Given the description of an element on the screen output the (x, y) to click on. 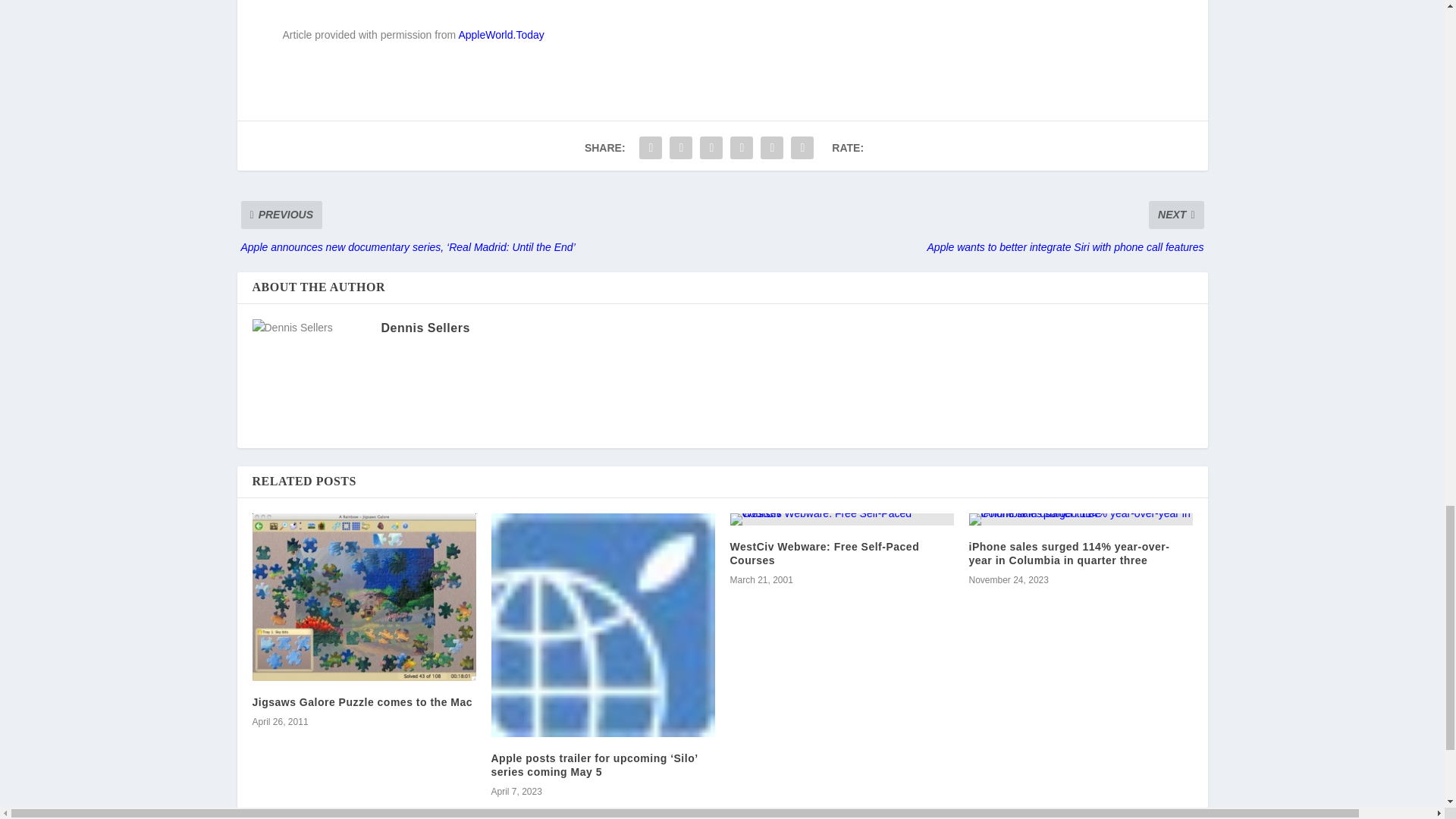
View all posts by Dennis Sellers (424, 327)
AppleWorld.Today (500, 34)
WestCiv Webware: Free Self-Paced Courses (841, 519)
Jigsaws Galore Puzzle comes to the Mac (363, 596)
